Given the description of an element on the screen output the (x, y) to click on. 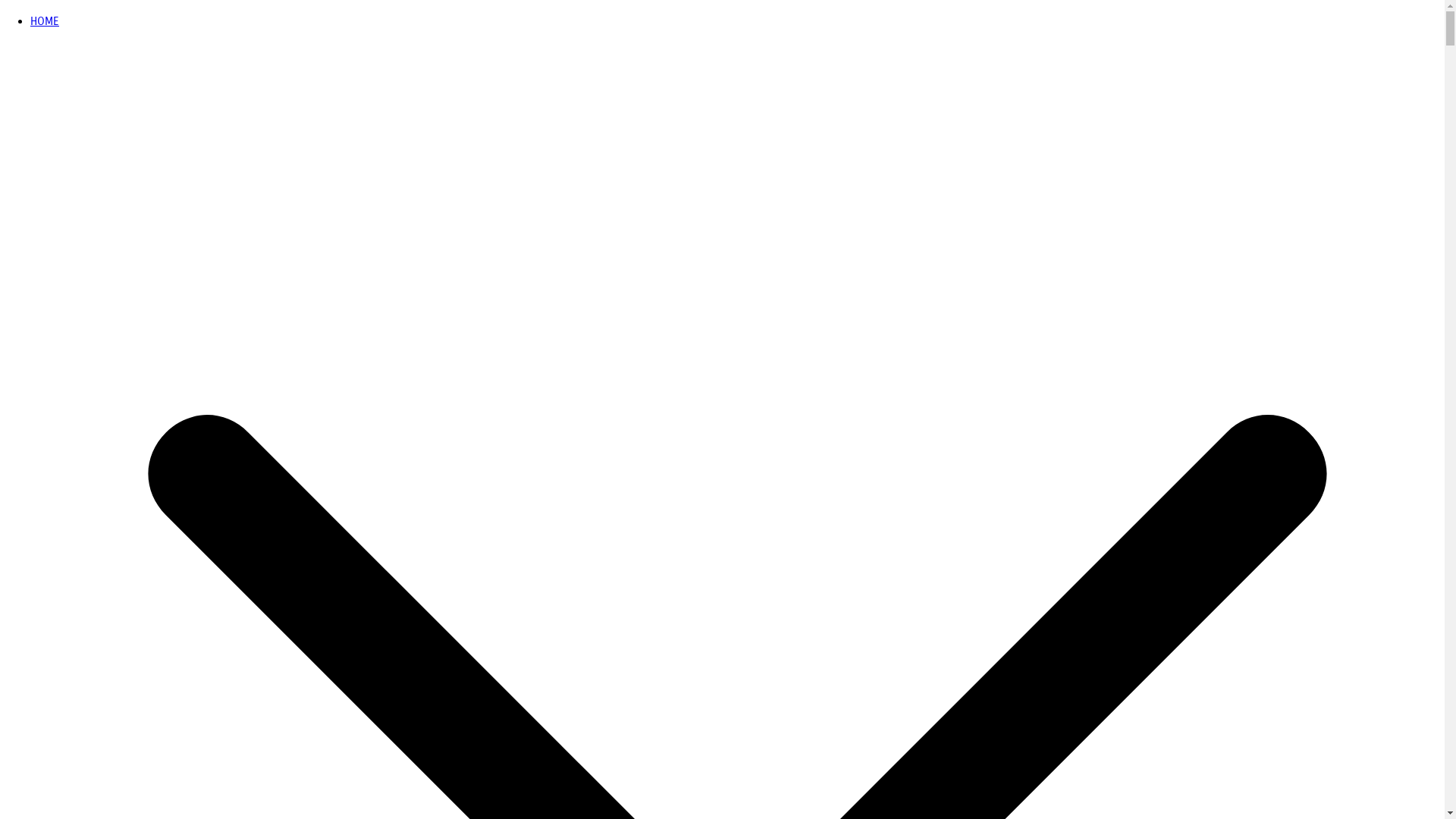
Fergys Element type: text (15, 32)
